Given the description of an element on the screen output the (x, y) to click on. 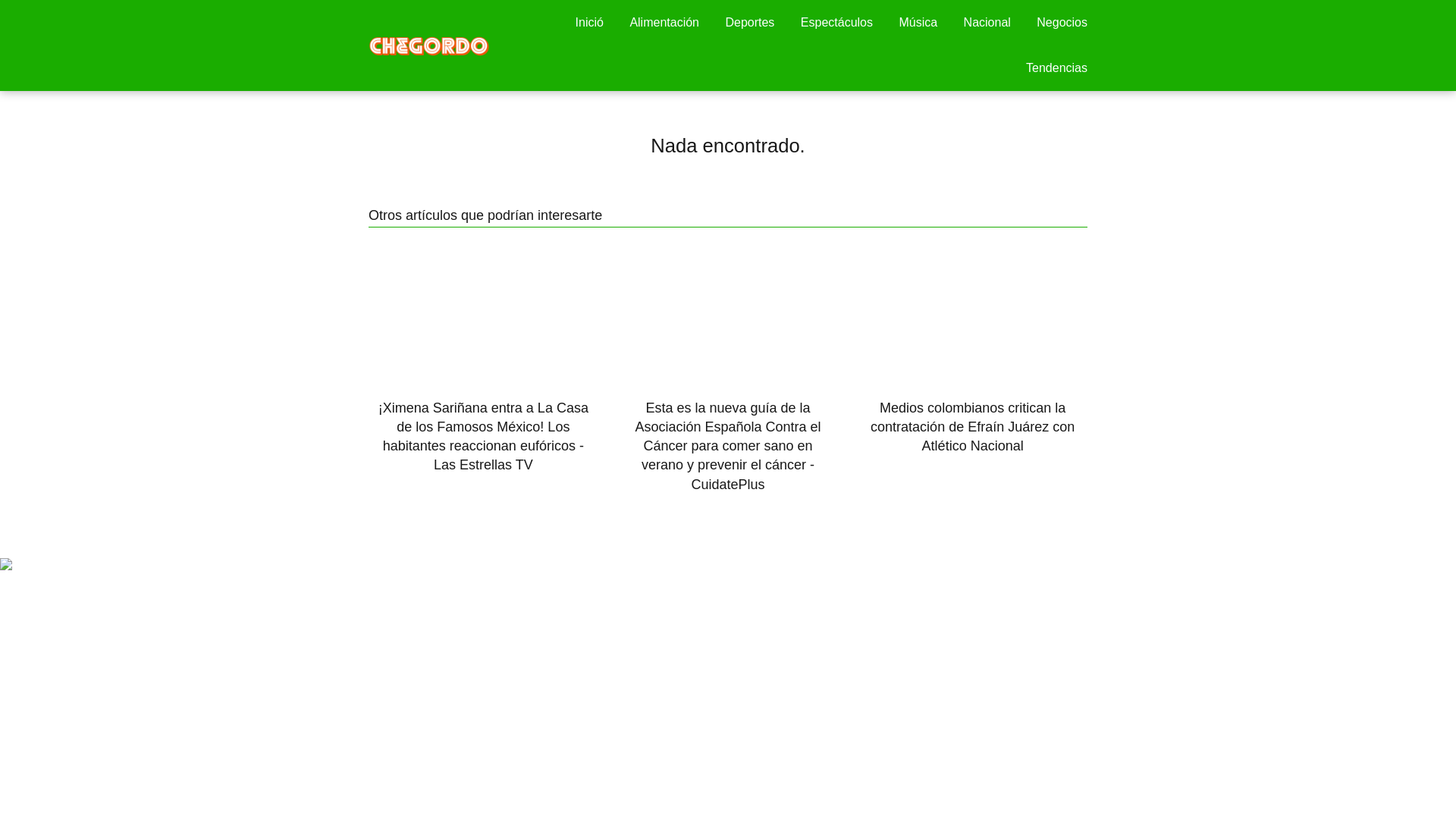
Nacional (986, 21)
Deportes (749, 21)
Negocios (1061, 21)
Tendencias (1056, 67)
